Given the description of an element on the screen output the (x, y) to click on. 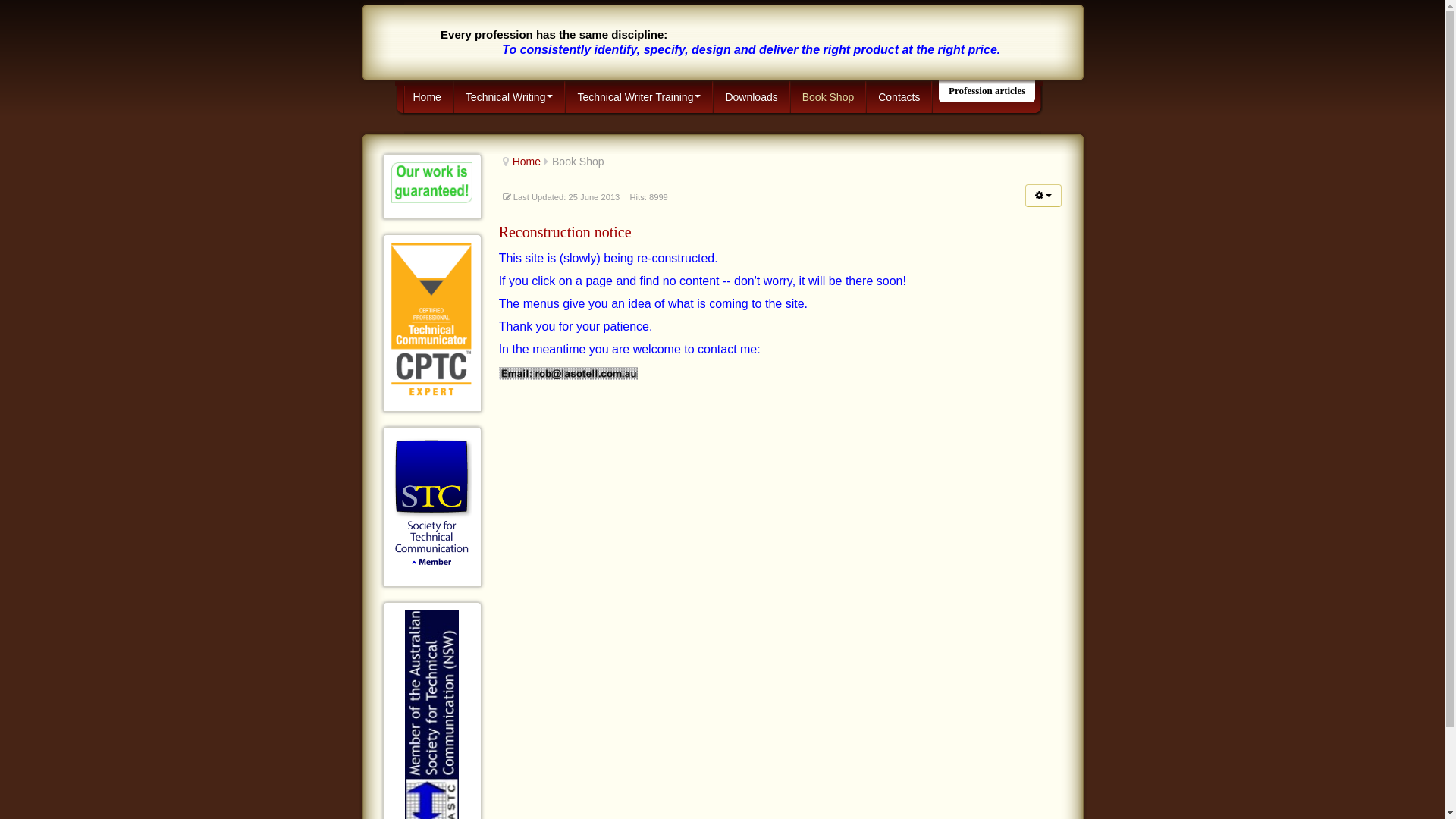
Book Shop Element type: text (828, 96)
STC logo Element type: hover (431, 503)
Downloads Element type: text (751, 96)
Technical Writer Training Element type: text (638, 96)
Home Element type: text (427, 96)
Contacts Element type: text (898, 96)
Technical Writing Element type: text (509, 96)
Profession articles Element type: text (986, 90)
Home Element type: text (526, 161)
